Given the description of an element on the screen output the (x, y) to click on. 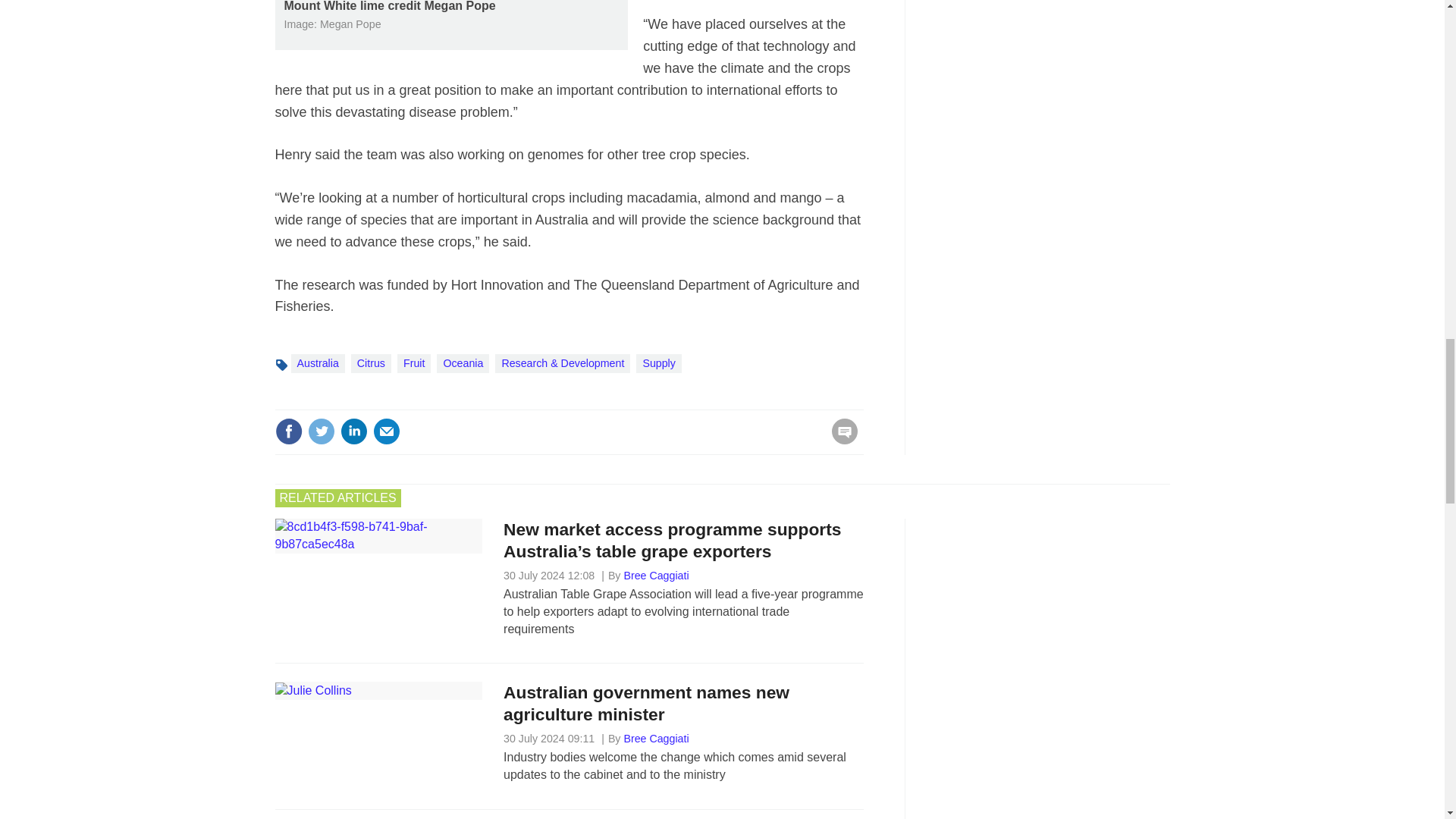
Email this article (386, 431)
No comments (840, 440)
Share this on Twitter (320, 431)
Share this on Facebook (288, 431)
Share this on Linked in (352, 431)
